Given the description of an element on the screen output the (x, y) to click on. 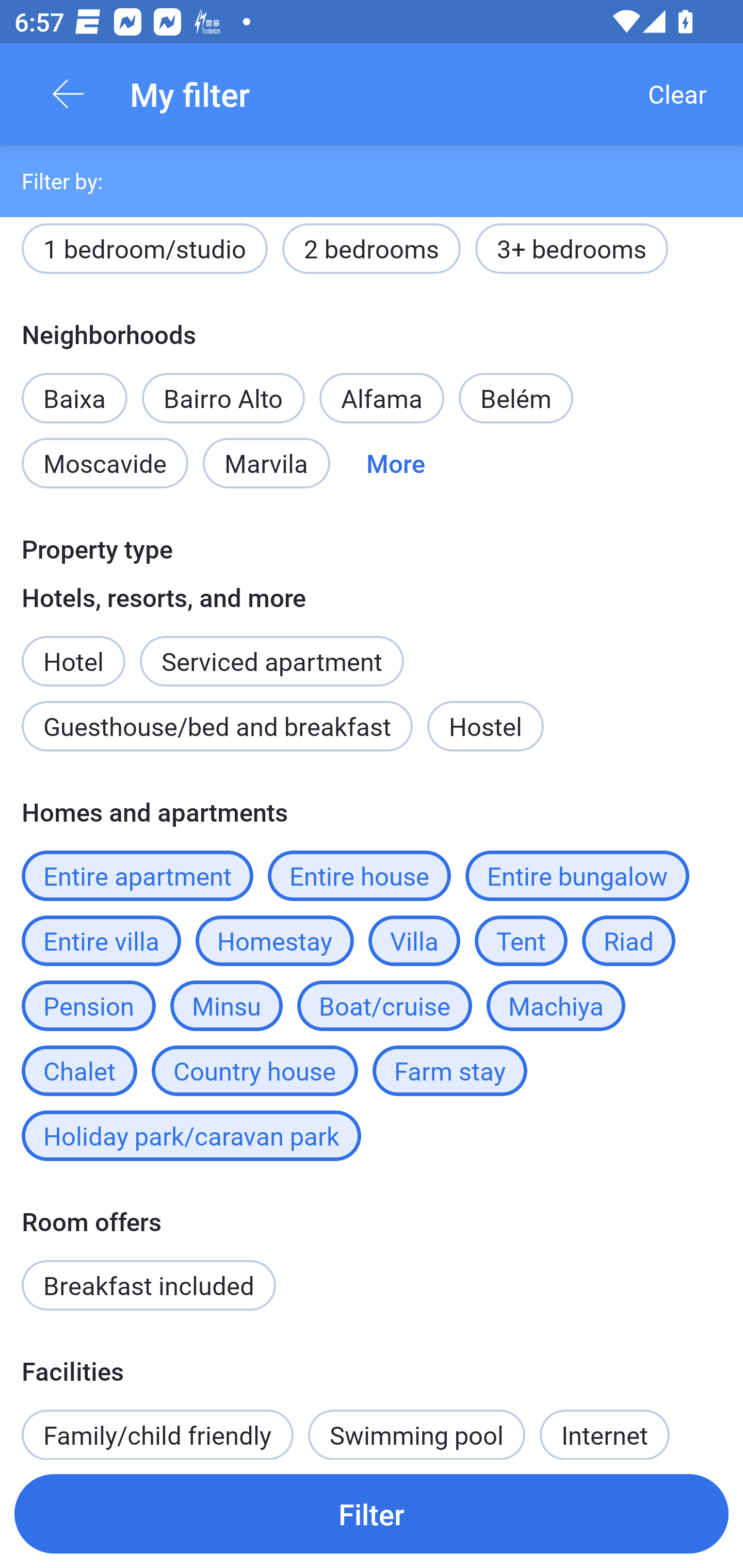
Clear (676, 93)
1 bedroom/studio (144, 253)
2 bedrooms (371, 253)
3+ bedrooms (571, 253)
Baixa (74, 387)
Bairro Alto (222, 398)
Alfama (381, 398)
Belém (515, 398)
Moscavide (104, 463)
Marvila (265, 463)
More (395, 463)
Hotel (73, 650)
Serviced apartment (271, 650)
Guesthouse/bed and breakfast (217, 726)
Hostel (485, 726)
Breakfast included (148, 1284)
Family/child friendly (157, 1425)
Swimming pool (416, 1425)
Internet (604, 1425)
Filter (371, 1513)
